Given the description of an element on the screen output the (x, y) to click on. 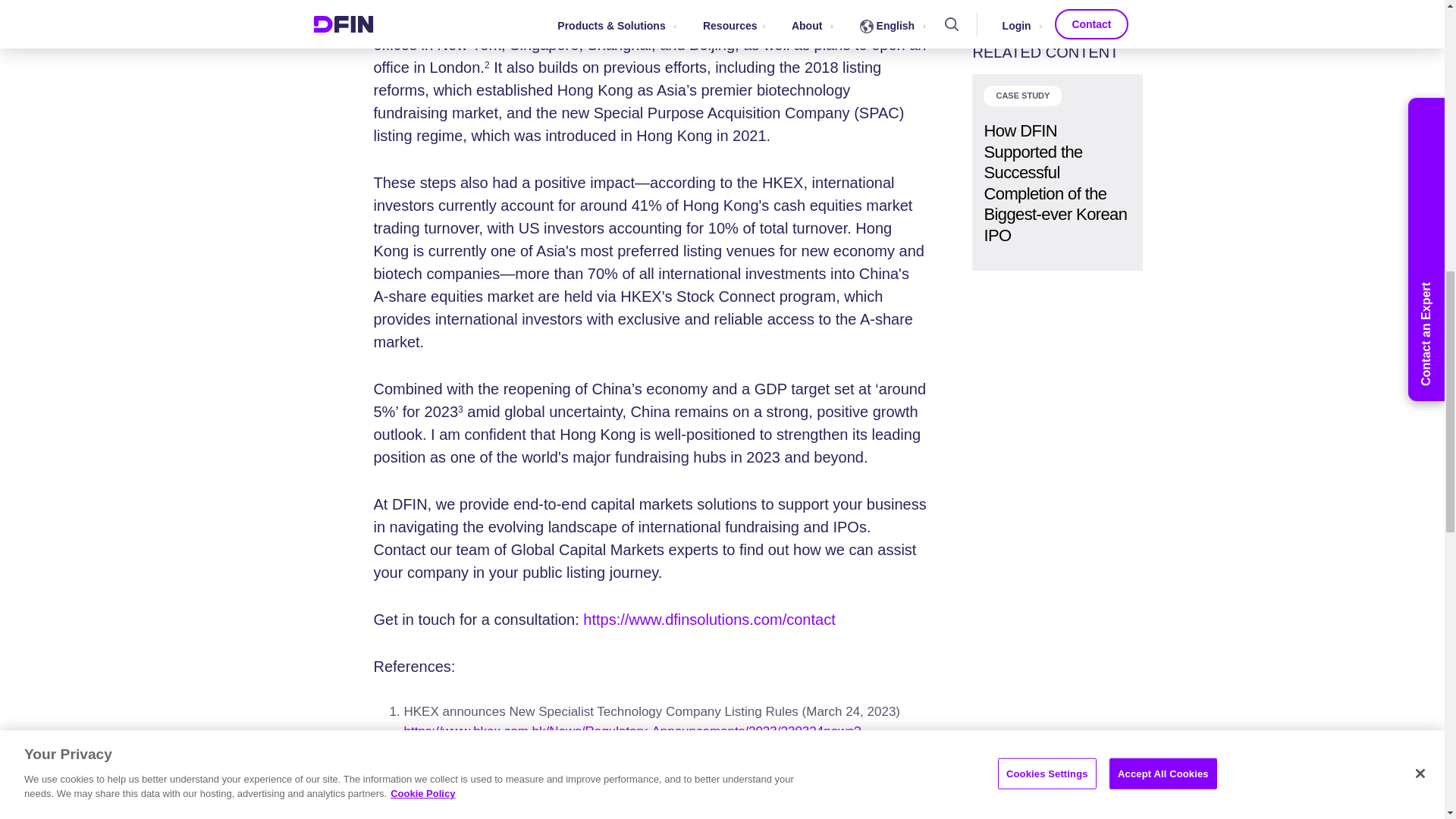
Learn More (1057, 3)
